Given the description of an element on the screen output the (x, y) to click on. 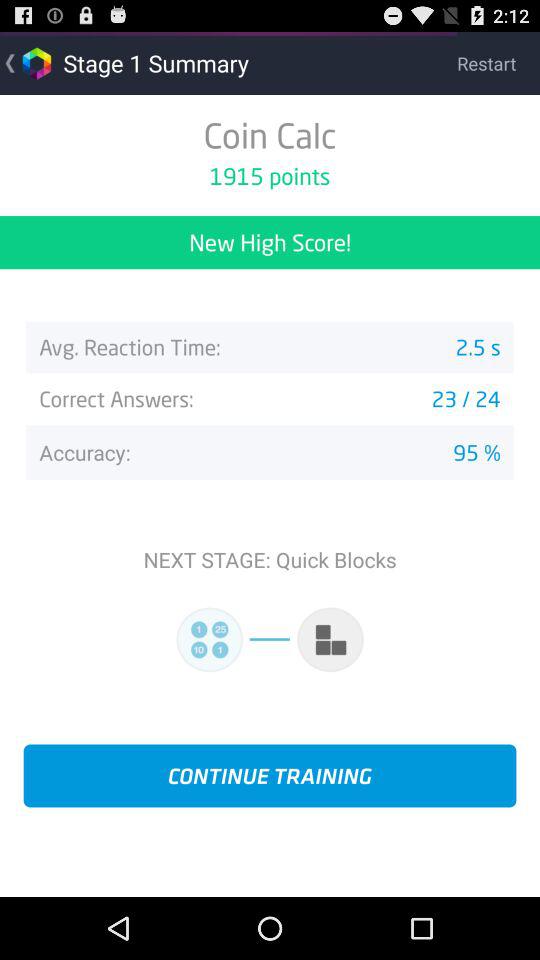
click the app above coin calc (498, 62)
